Given the description of an element on the screen output the (x, y) to click on. 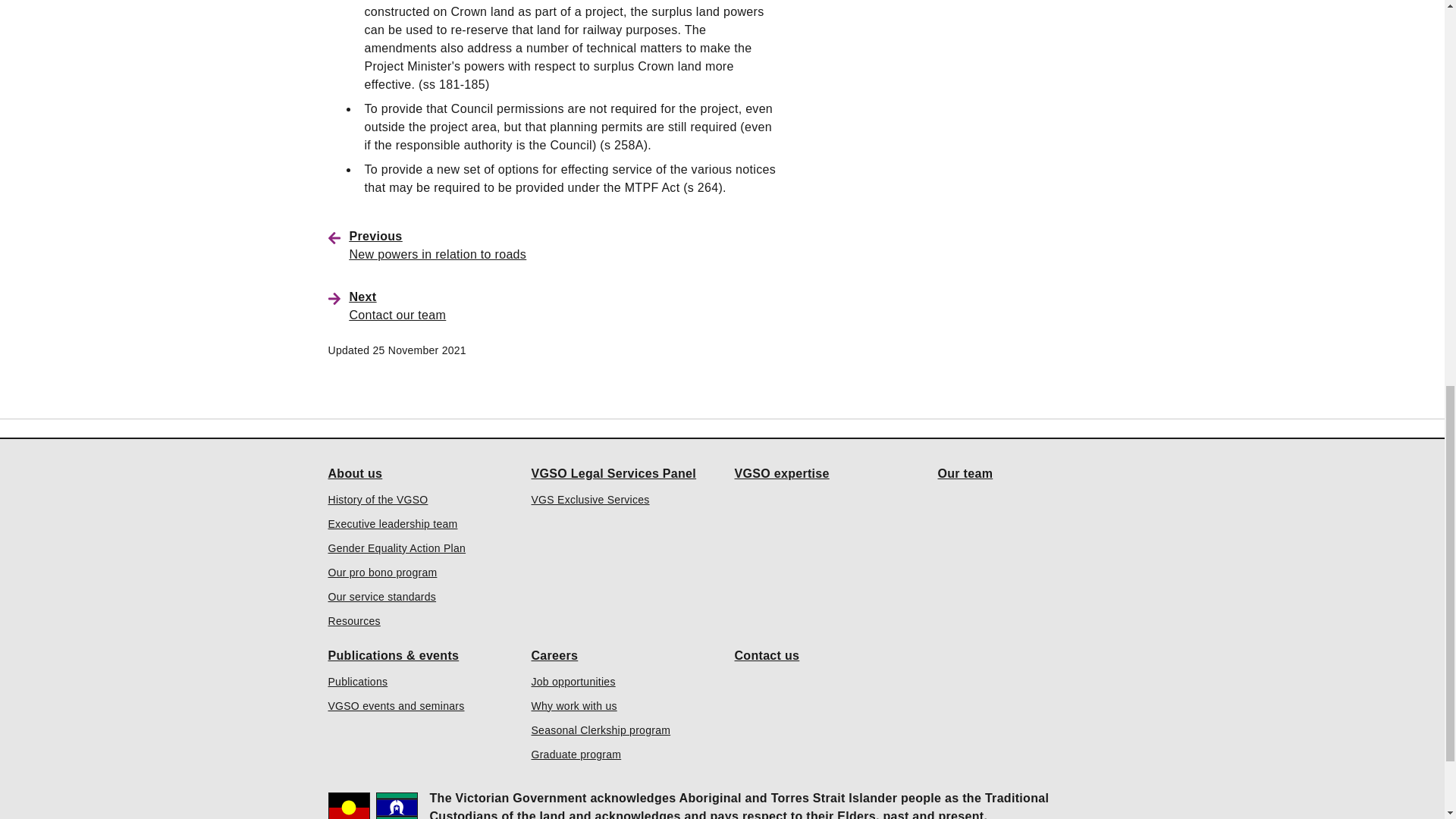
Job opportunities (572, 680)
Our service standards (381, 595)
PreviousNew powers in relation to roads (563, 244)
Our pro bono program (381, 571)
About us (354, 472)
Resources (353, 620)
NextContact our team (563, 305)
Careers (554, 654)
History of the VGSO (377, 498)
Why work with us (573, 704)
